Given the description of an element on the screen output the (x, y) to click on. 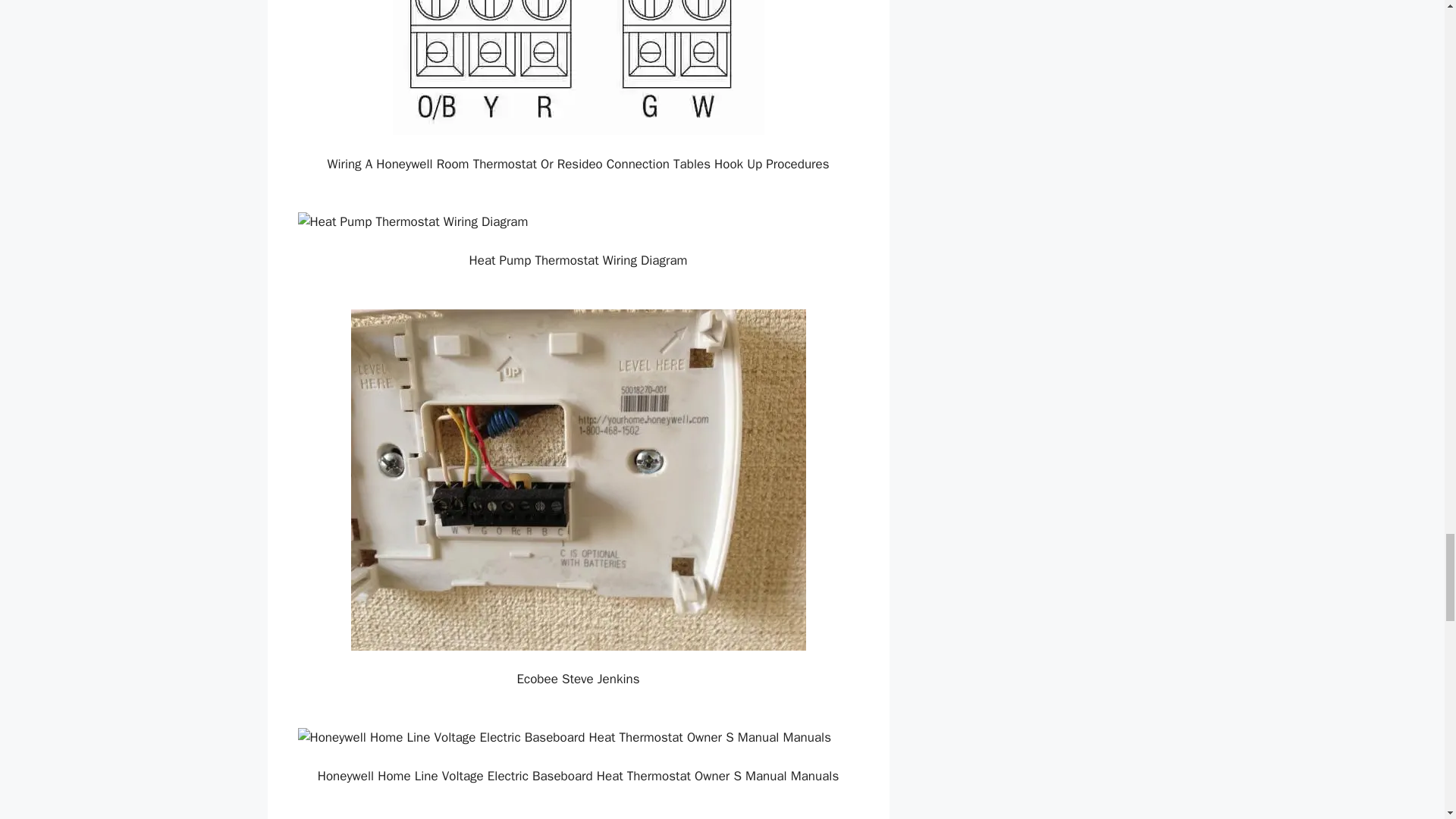
Heat Pump Thermostat Wiring Diagram (578, 221)
